Given the description of an element on the screen output the (x, y) to click on. 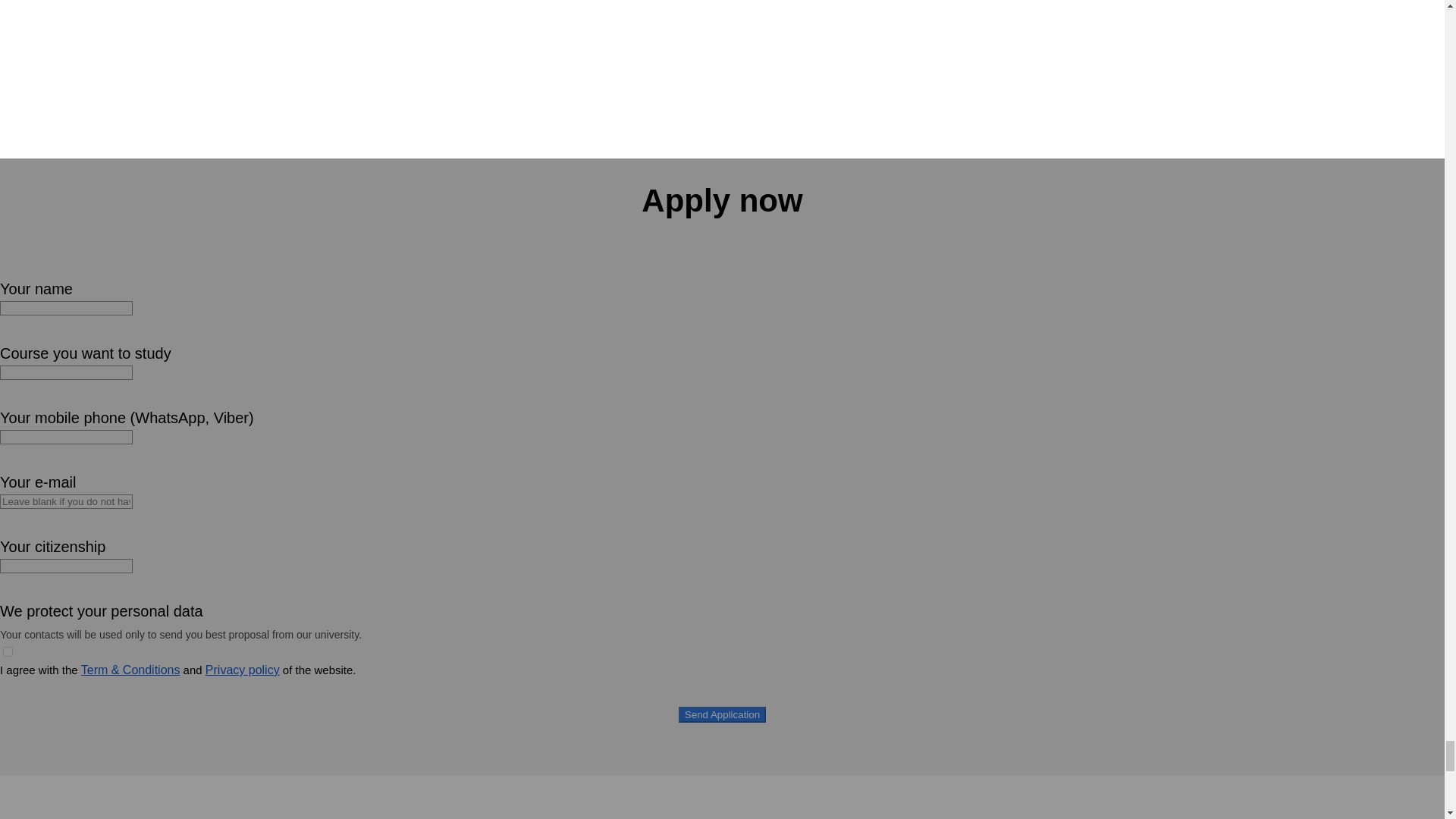
Send Application (721, 714)
yes (7, 651)
Privacy policy (242, 669)
